Given the description of an element on the screen output the (x, y) to click on. 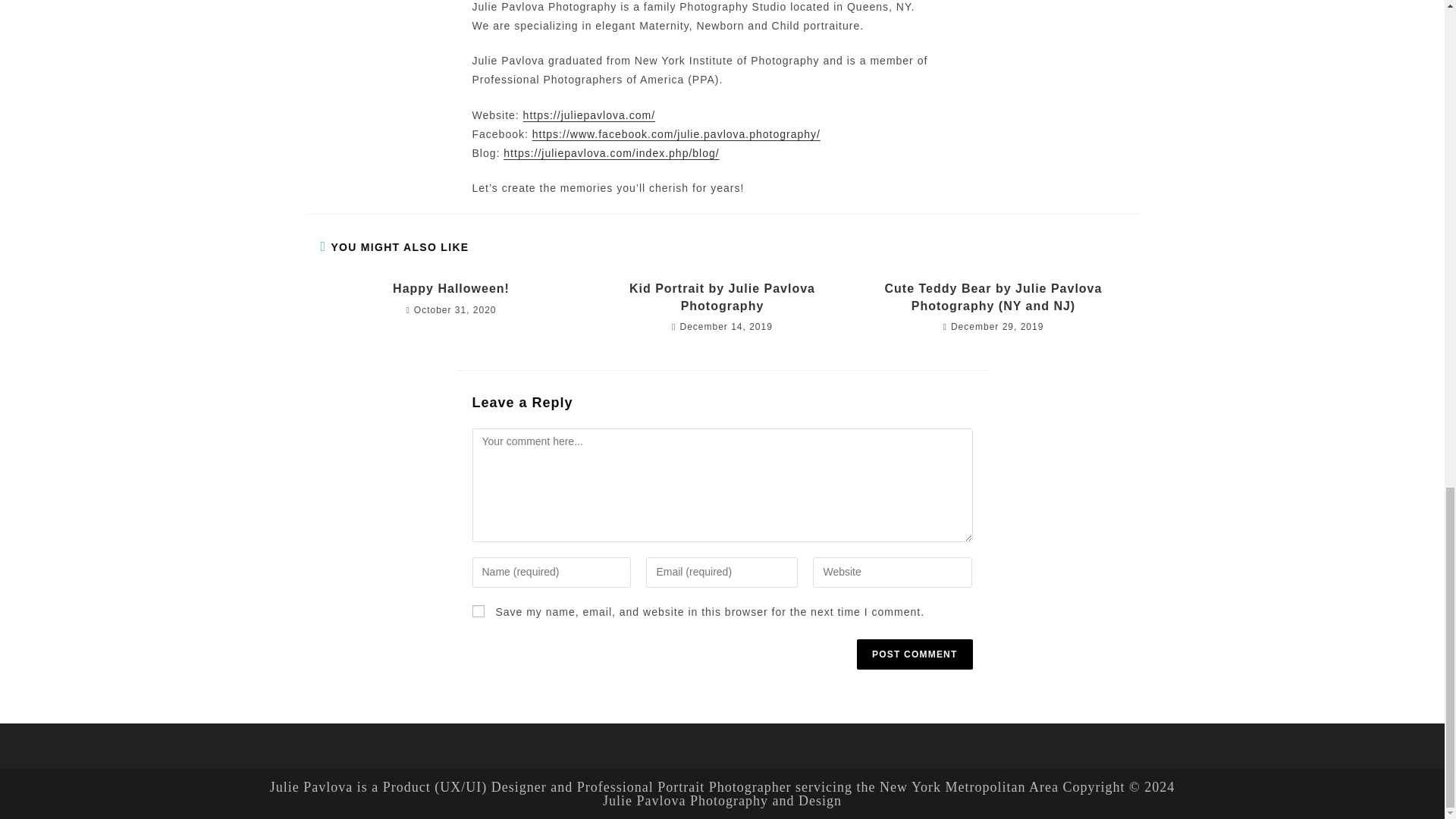
Post Comment (914, 654)
Kid Portrait by Julie Pavlova Photography (721, 297)
Happy Halloween! (450, 288)
yes (477, 611)
Post Comment (914, 654)
